Given the description of an element on the screen output the (x, y) to click on. 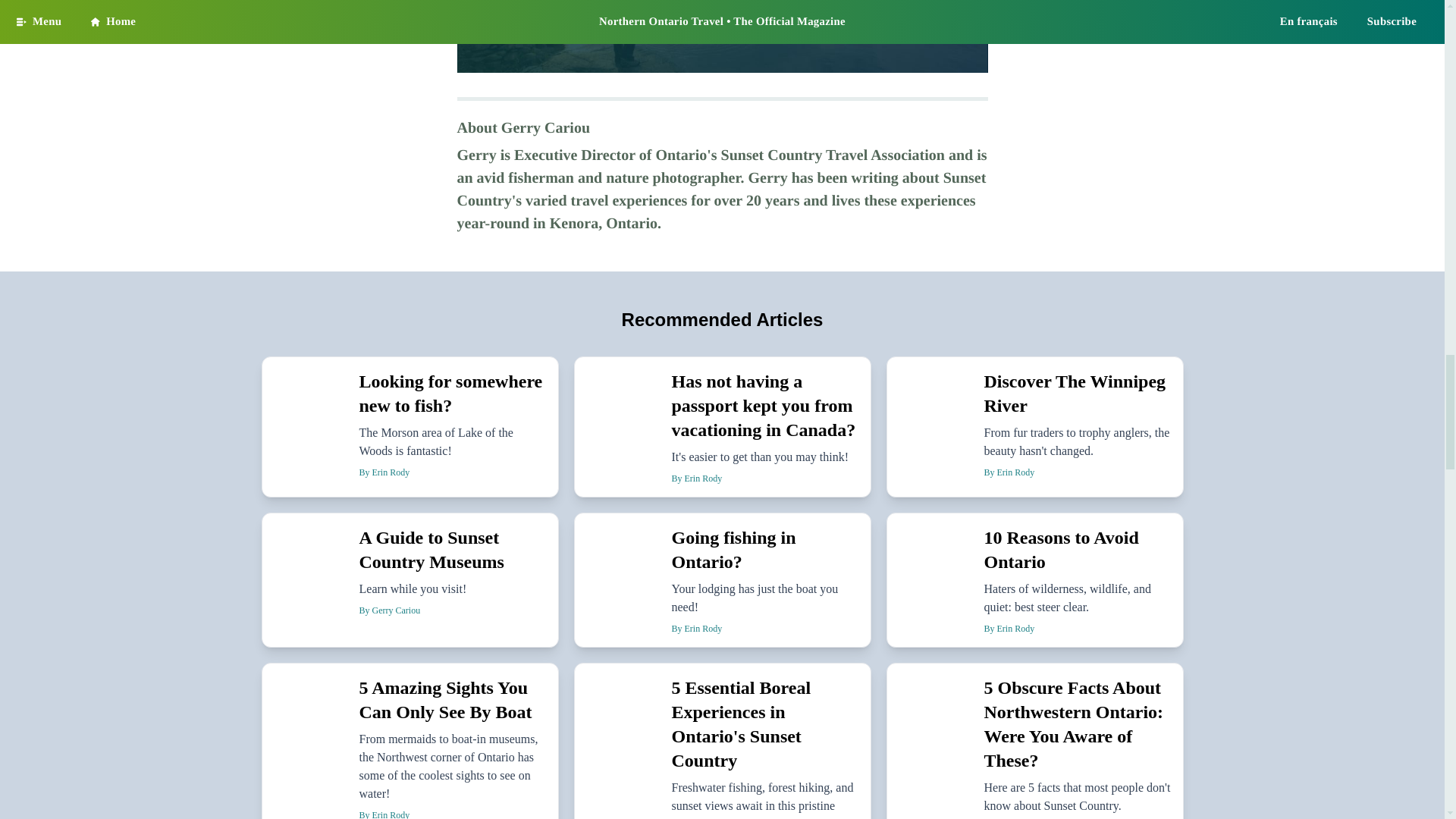
Privacy Policy (887, 35)
